Given the description of an element on the screen output the (x, y) to click on. 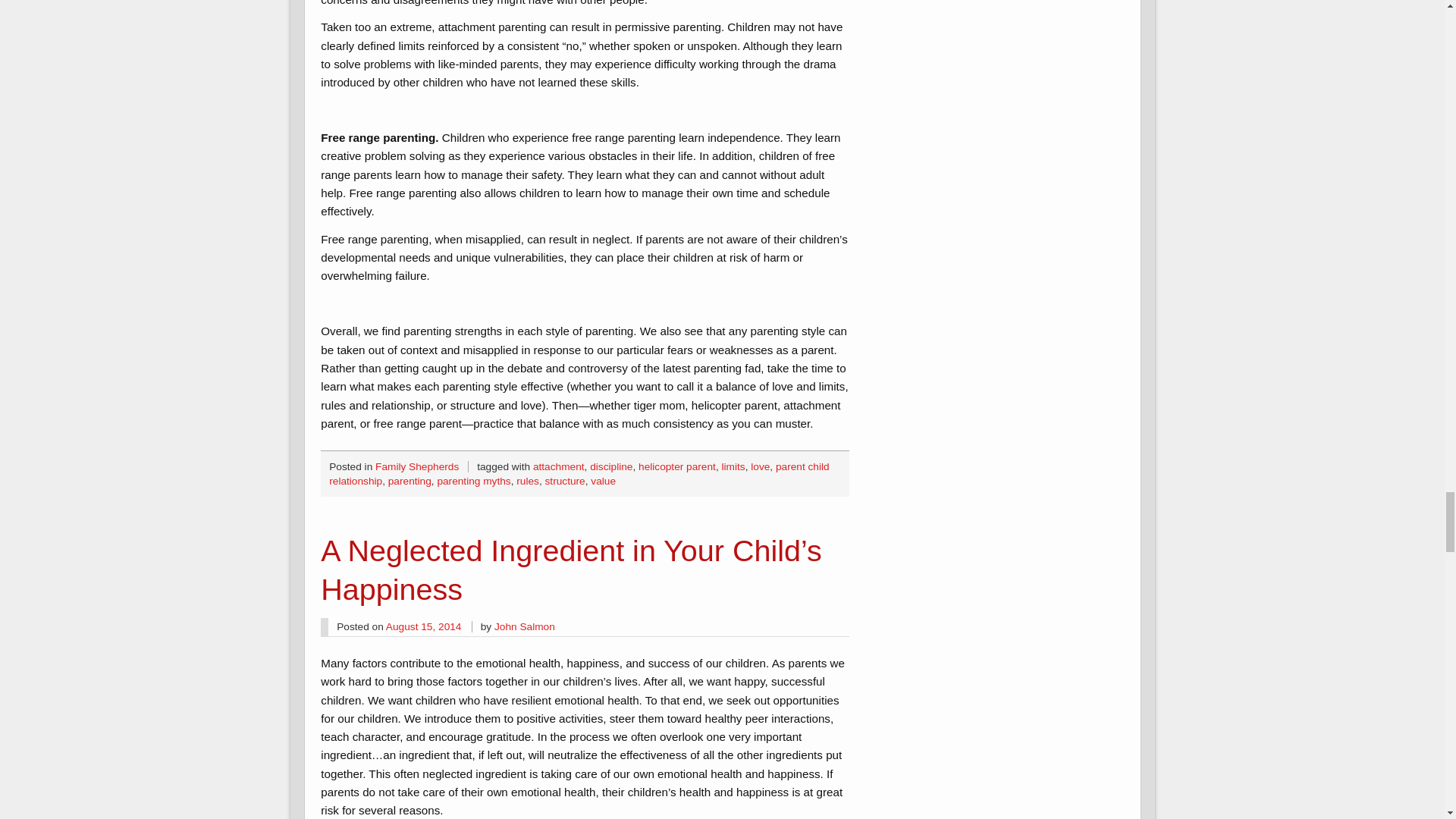
3:57 pm (423, 626)
View all posts by John Salmon (524, 626)
